Given the description of an element on the screen output the (x, y) to click on. 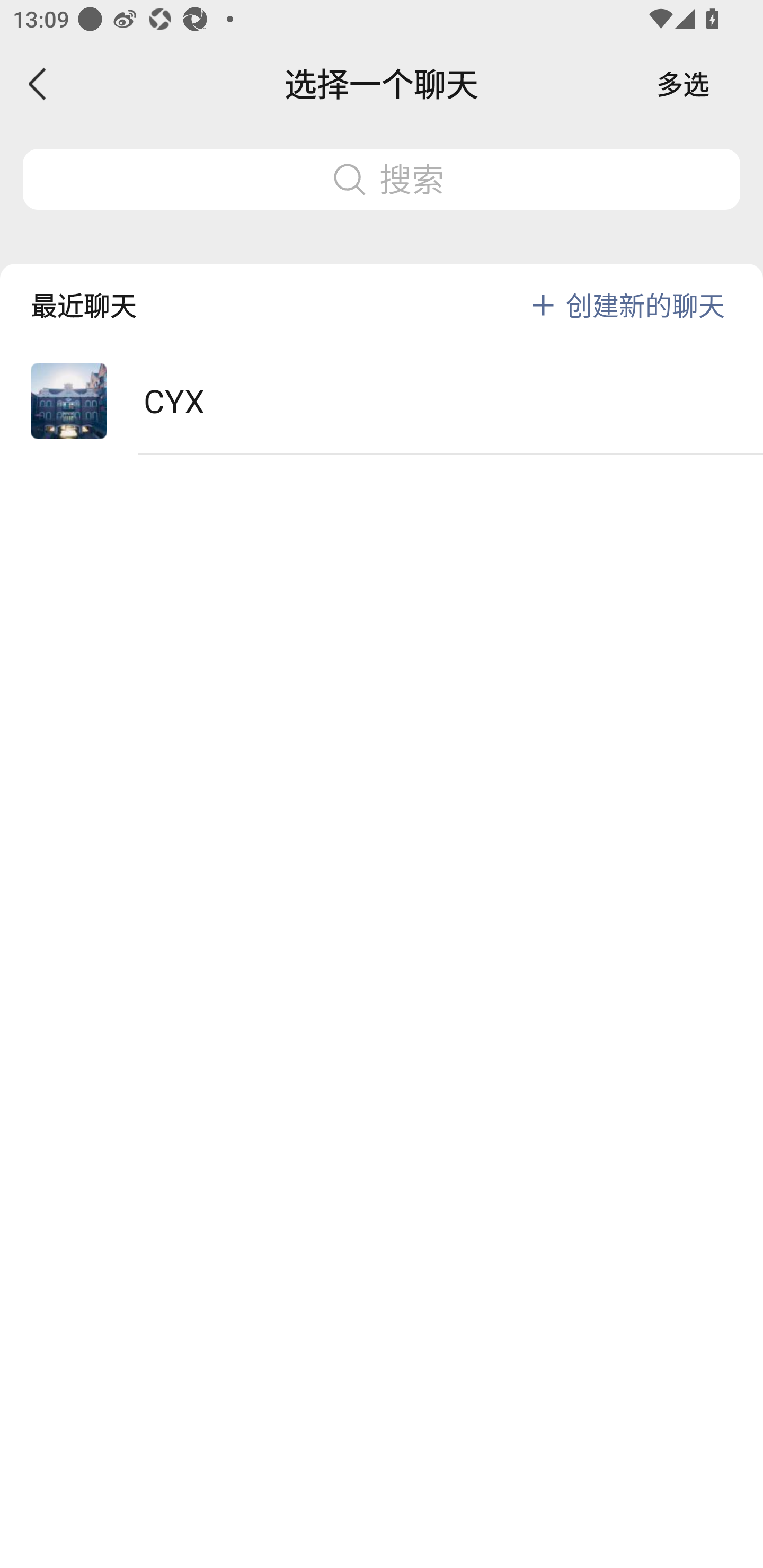
返回 (38, 83)
多选 (683, 83)
最近聊天 创建新的聊天 (381, 290)
创建新的聊天 (645, 304)
CYX (381, 401)
